Given the description of an element on the screen output the (x, y) to click on. 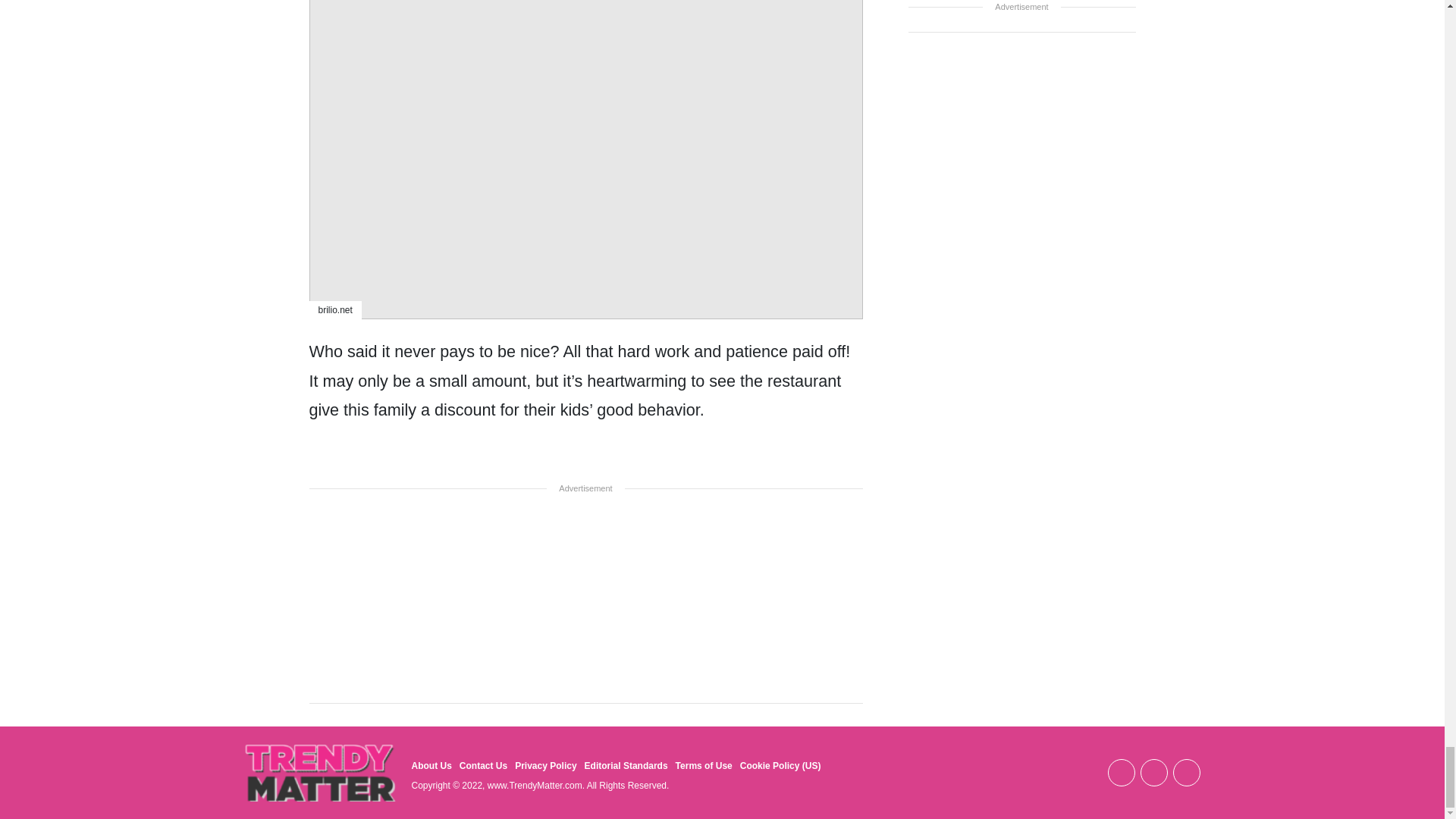
Contact Us (483, 765)
Privacy Policy (545, 765)
Terms of Use (703, 765)
About Us (430, 765)
Editorial Standards (626, 765)
